Given the description of an element on the screen output the (x, y) to click on. 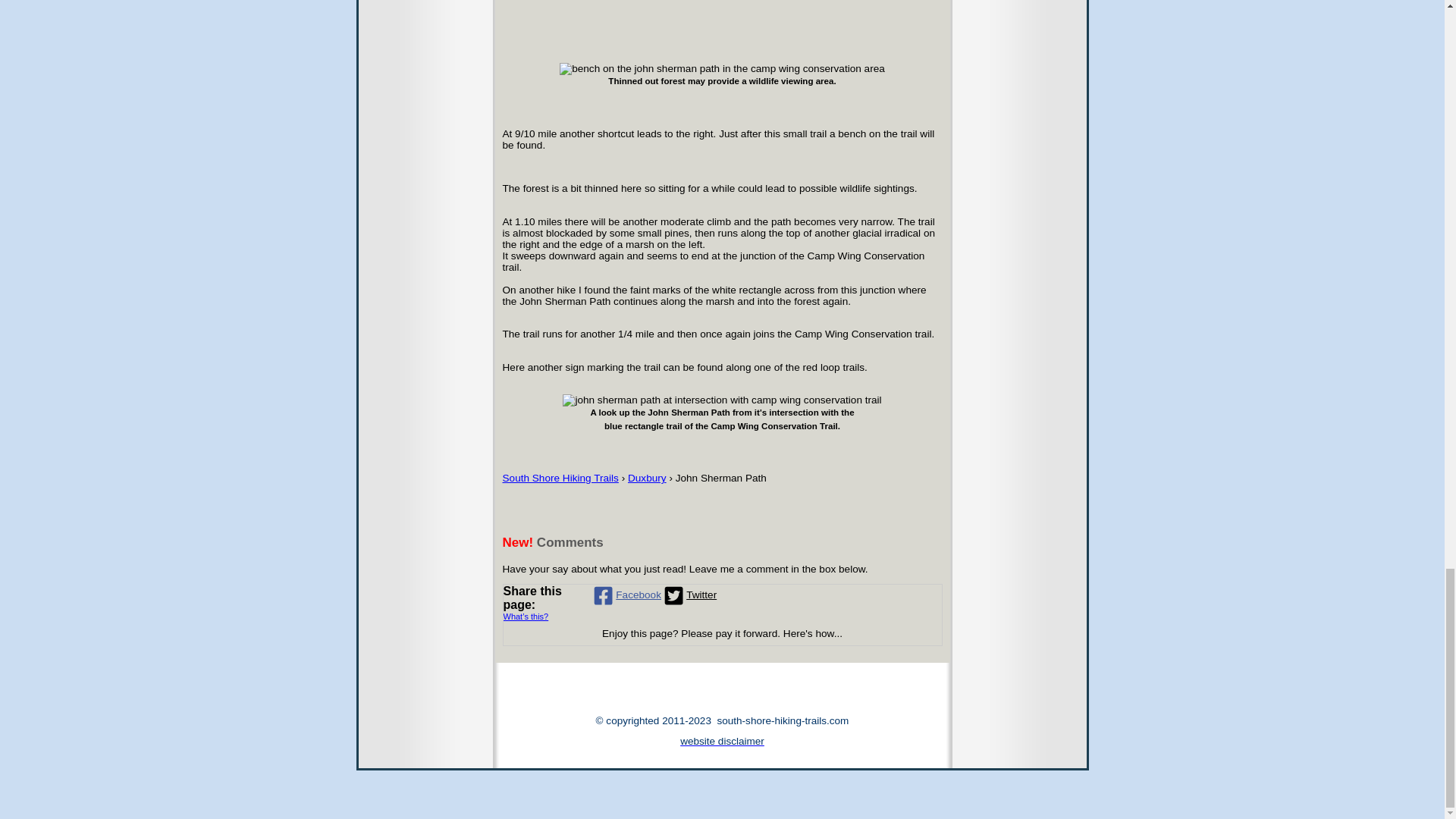
Facebook (626, 595)
South Shore Hiking Trails (559, 478)
Duxbury (646, 478)
Twitter (688, 595)
